Given the description of an element on the screen output the (x, y) to click on. 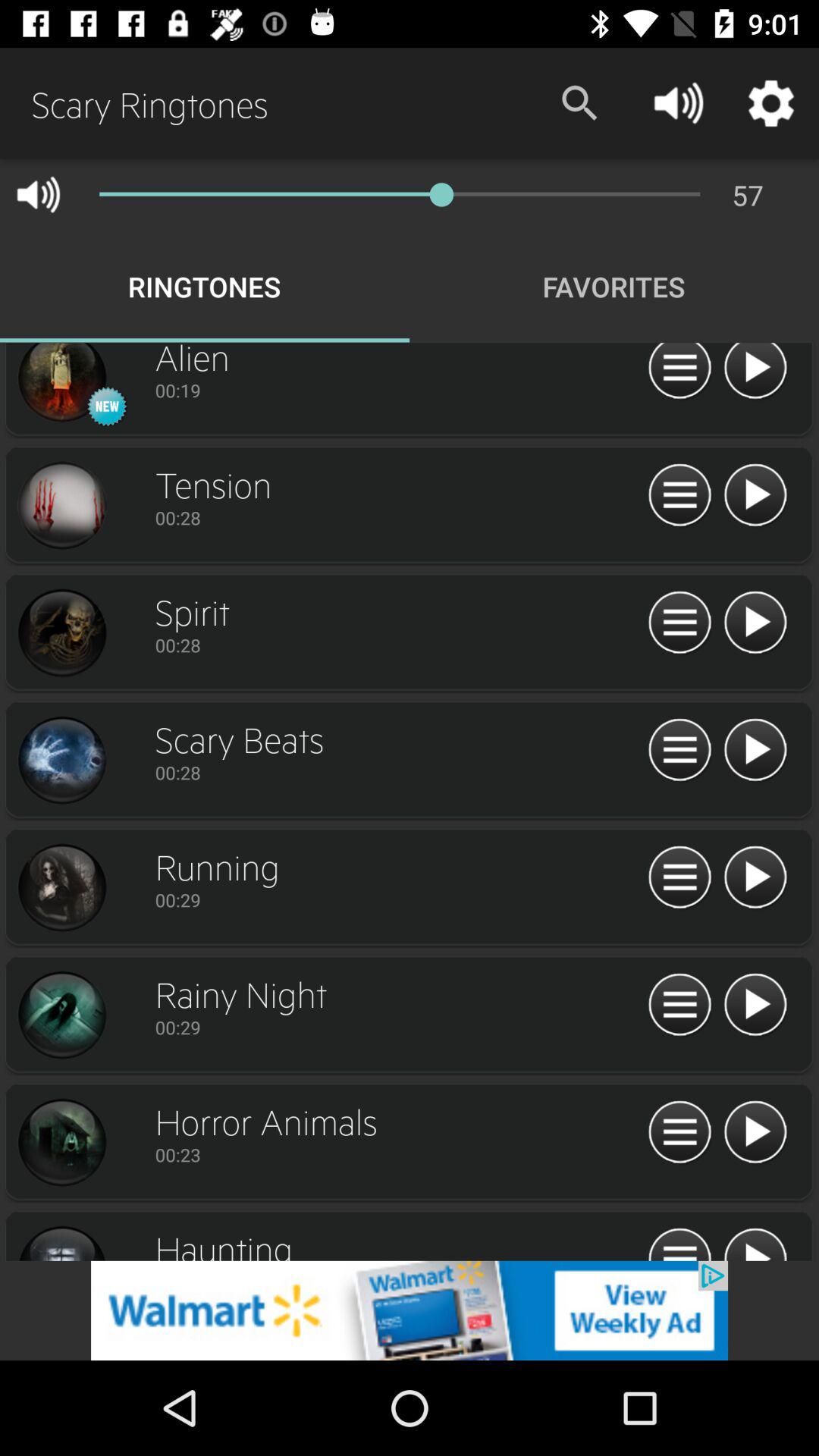
song options (679, 750)
